Given the description of an element on the screen output the (x, y) to click on. 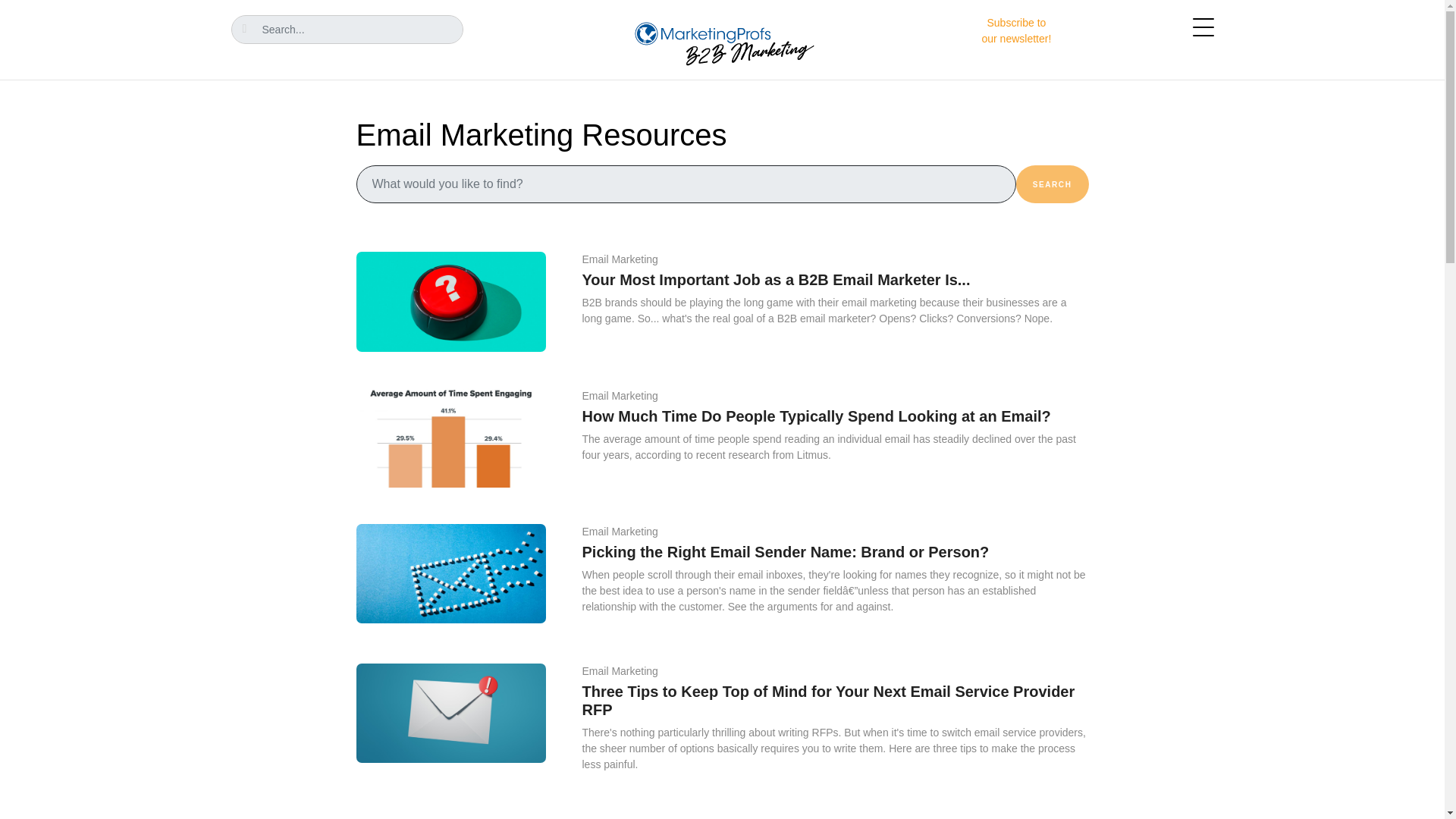
B2BProfs by MarketingProfs (1016, 30)
